Given the description of an element on the screen output the (x, y) to click on. 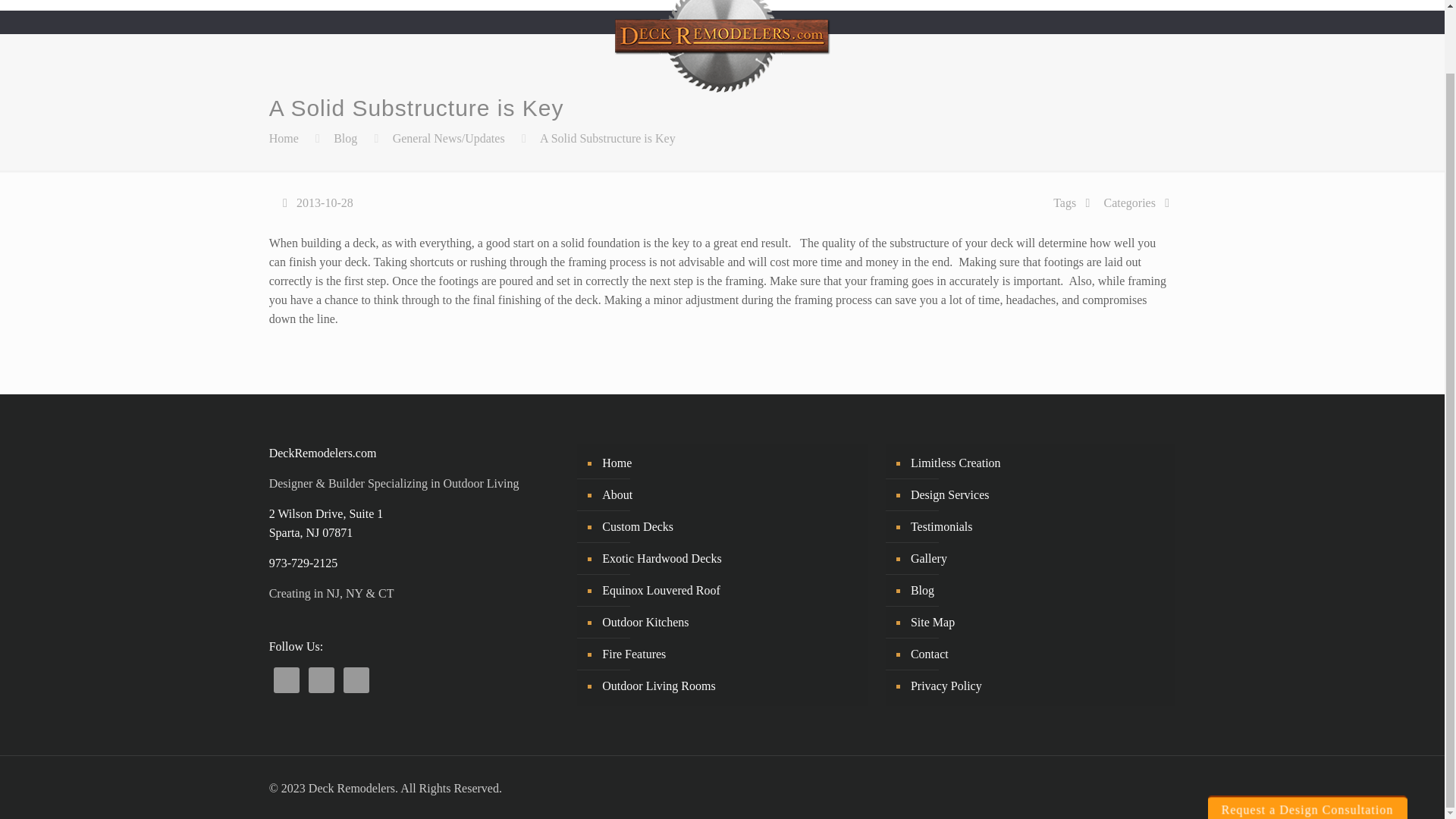
Louvered Roof (434, 5)
Gallery (1064, 5)
Limitless Creation (970, 5)
Outdoor Kitchens (547, 5)
Custom Decks (329, 5)
Deck Remodelers (721, 52)
